Given the description of an element on the screen output the (x, y) to click on. 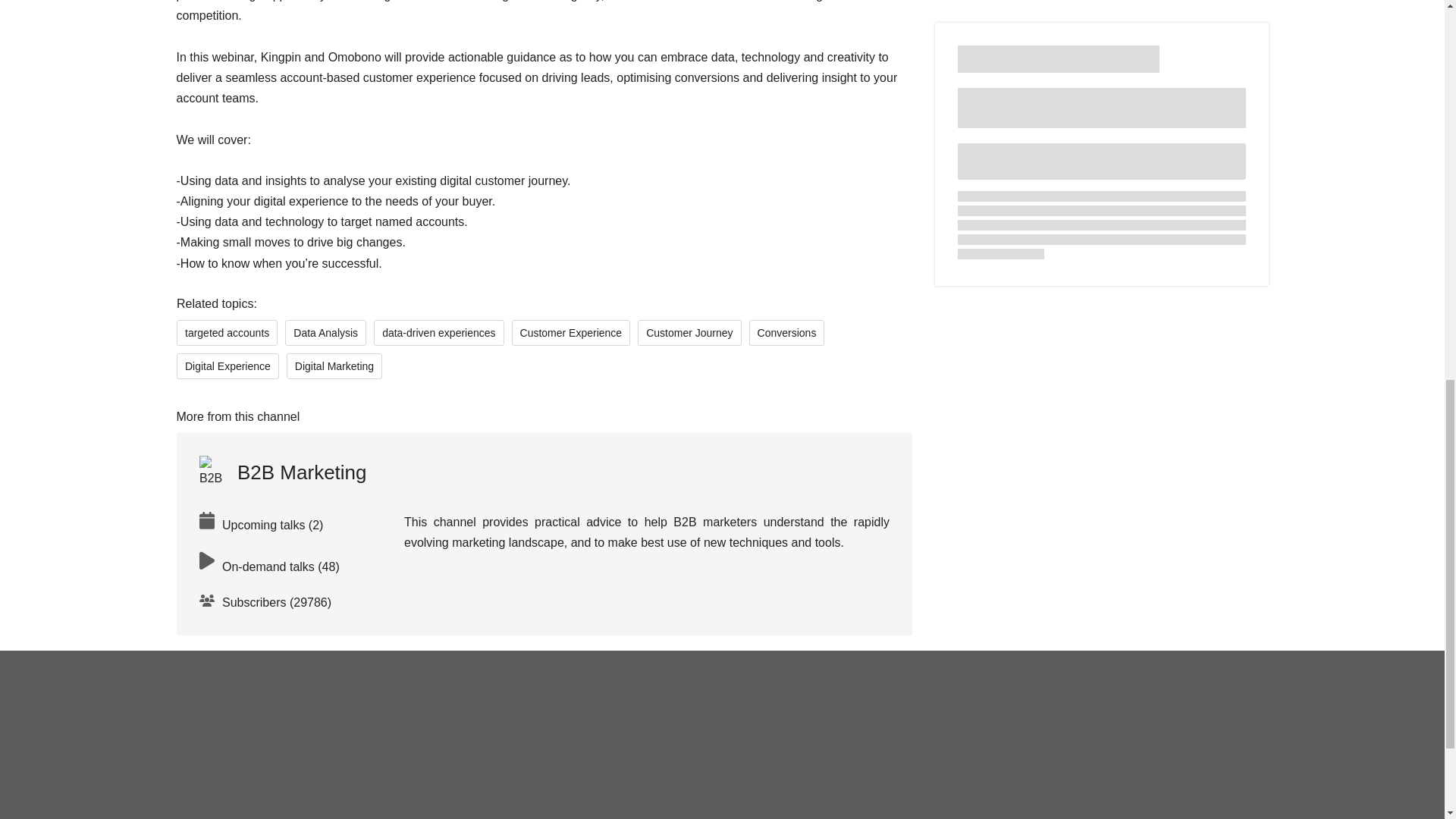
Visit B2B Marketing's channel (282, 471)
Customer Experience (570, 332)
Digital Experience (227, 365)
Digital Marketing (333, 365)
B2B Marketing (282, 471)
data-driven experiences (438, 332)
Customer Journey (689, 332)
Conversions (786, 332)
targeted accounts (226, 332)
Data Analysis (325, 332)
